Given the description of an element on the screen output the (x, y) to click on. 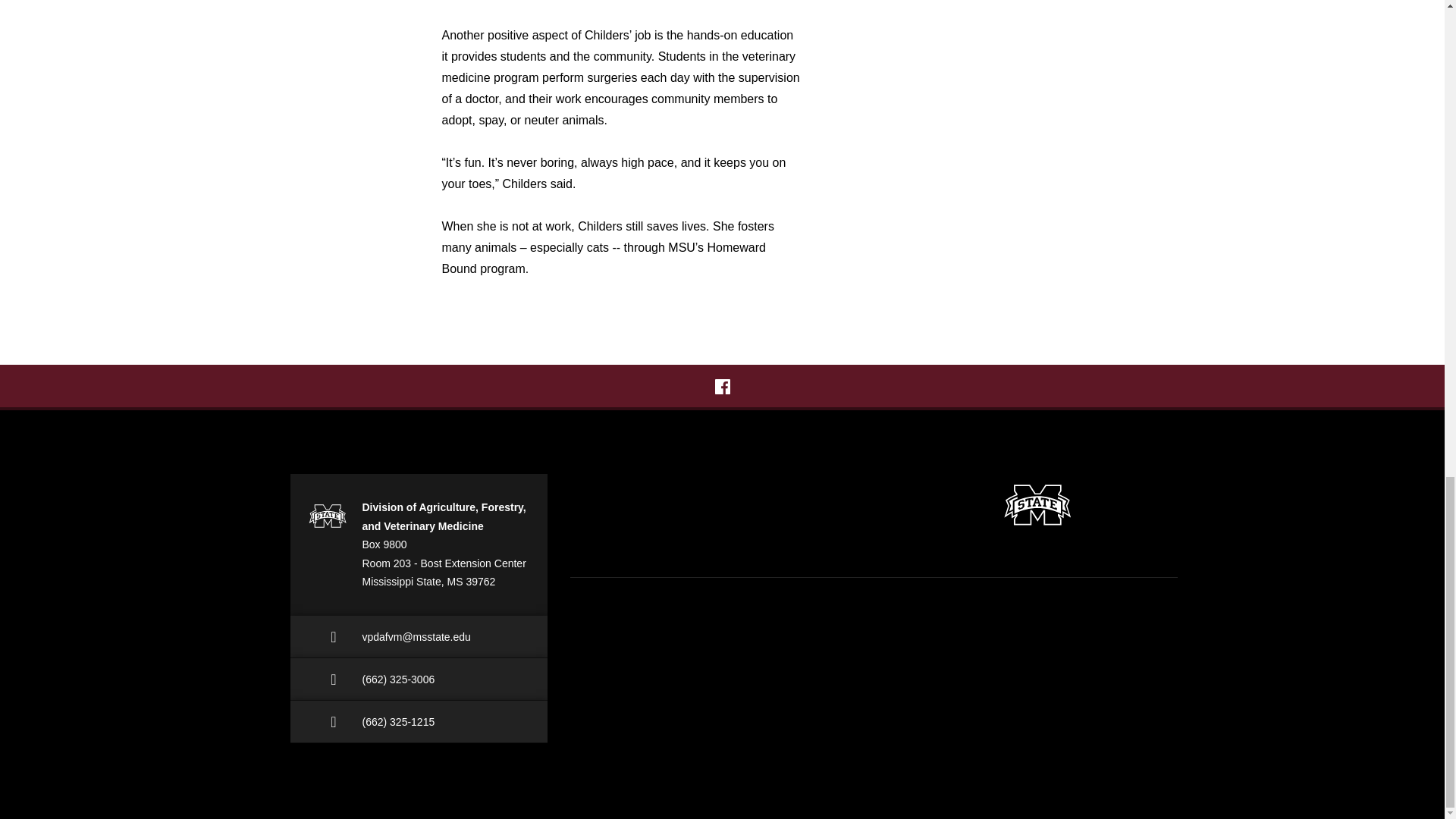
Mississippi State University (1037, 504)
Mississippi State University (326, 514)
Find DAFVM on Facebook (721, 386)
